Given the description of an element on the screen output the (x, y) to click on. 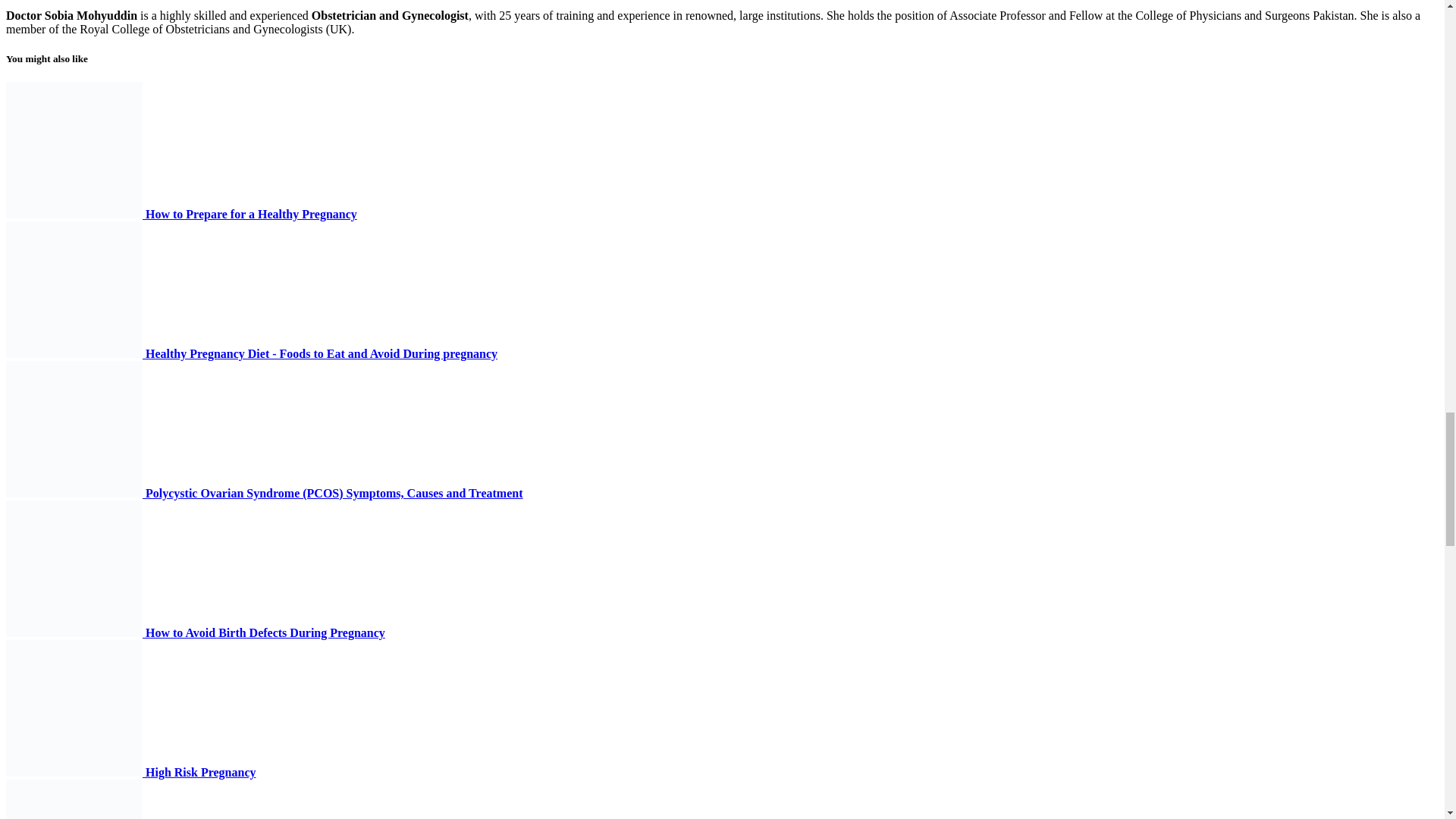
High Risk Pregnancy (130, 771)
how to reduce birth defects (73, 568)
healthy diet pregnancy (73, 289)
polycystic ovarian syndrome pcos treatment (73, 429)
How to Prepare for a Healthy Pregnancy (180, 214)
How to Avoid Birth Defects During Pregnancy (195, 632)
How to Avoid Birth Defects During Pregnancy (195, 632)
plan pregnancy calculator diet (73, 149)
